Given the description of an element on the screen output the (x, y) to click on. 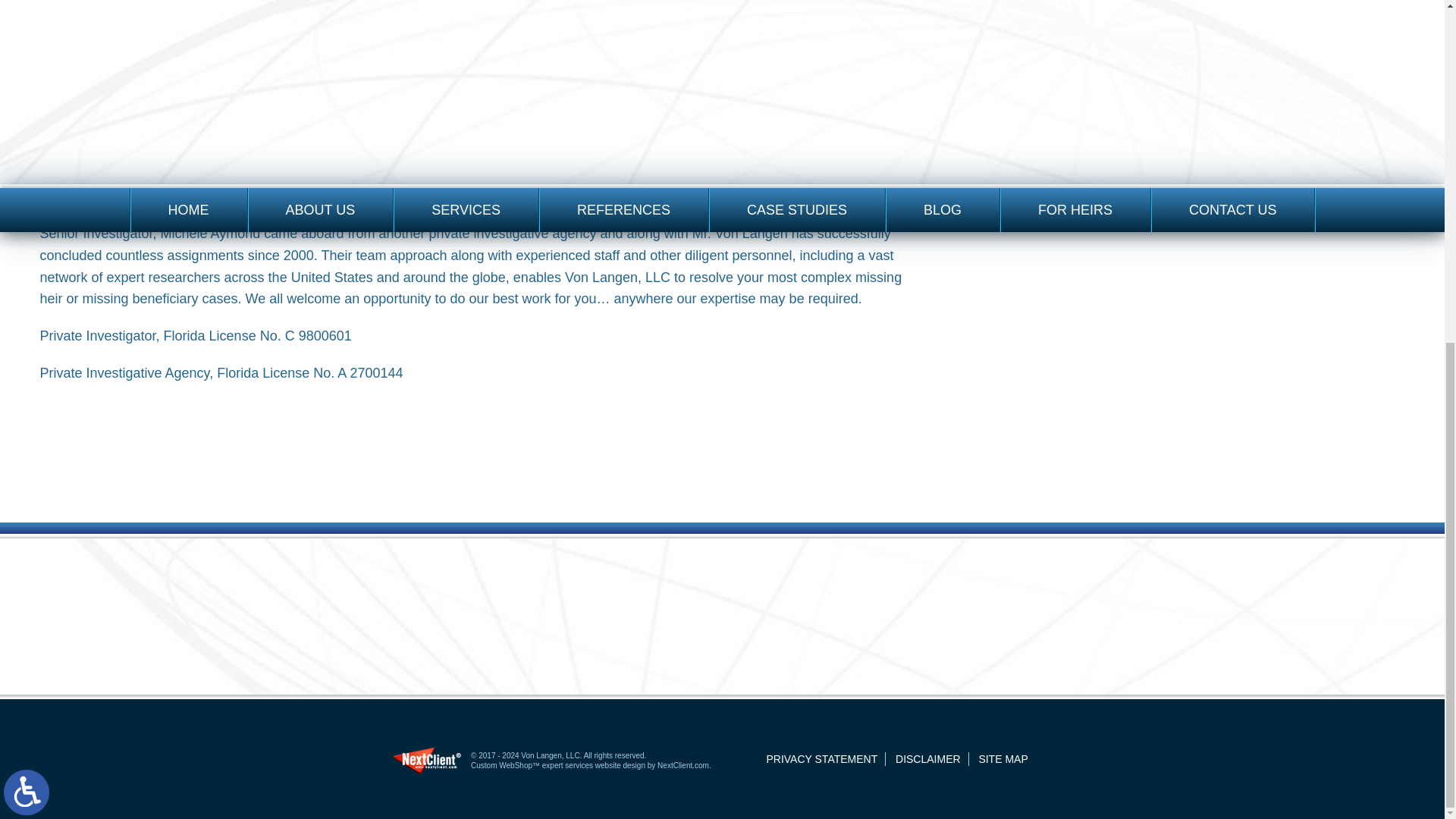
PRIVACY STATEMENT (821, 758)
Switch to ADA Accessible Theme (26, 207)
SITE MAP (1002, 758)
Designed and Powered by NextClient (427, 760)
NextClient.com (683, 765)
DISCLAIMER (927, 758)
